Given the description of an element on the screen output the (x, y) to click on. 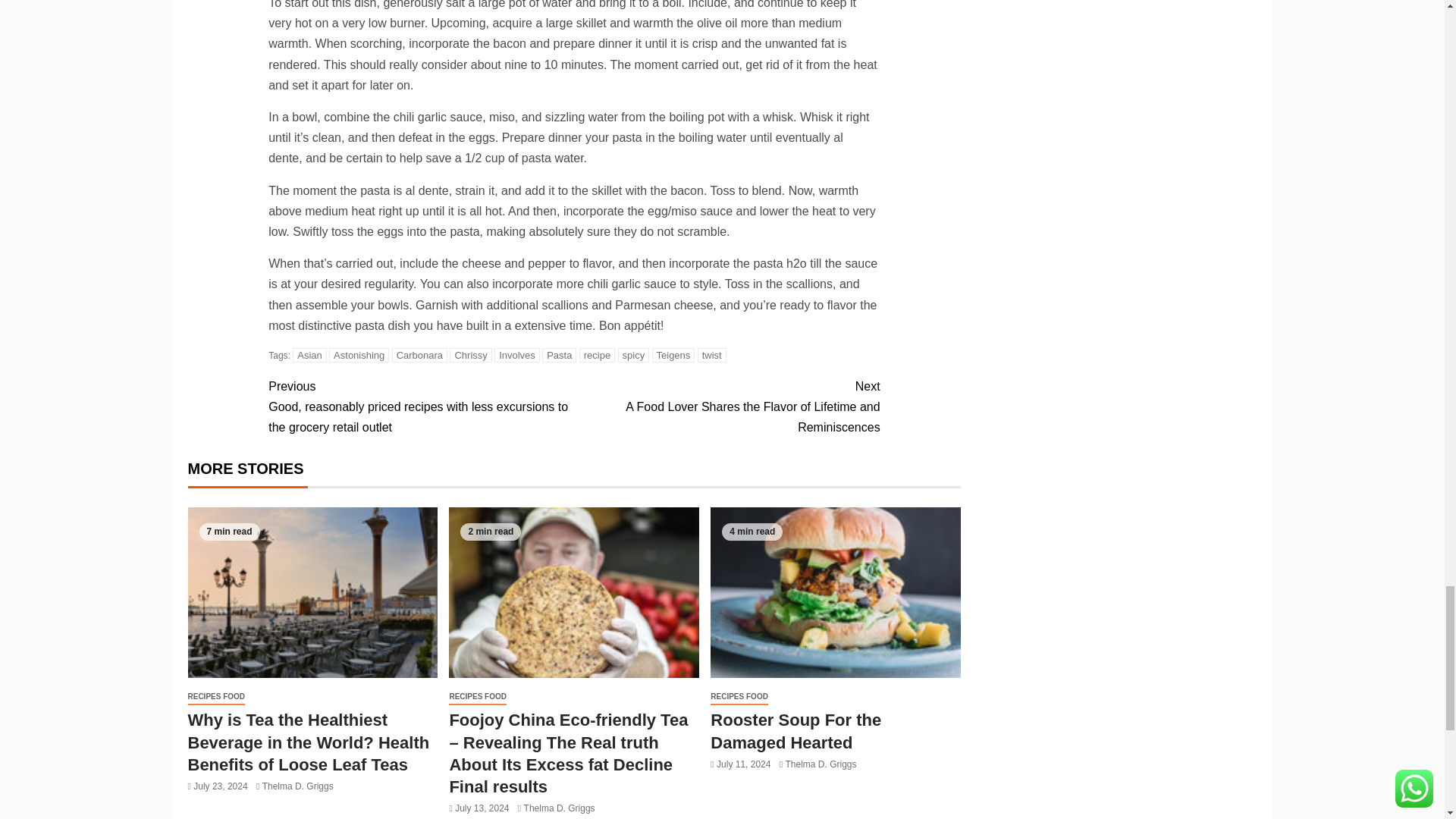
Asian (309, 355)
